Given the description of an element on the screen output the (x, y) to click on. 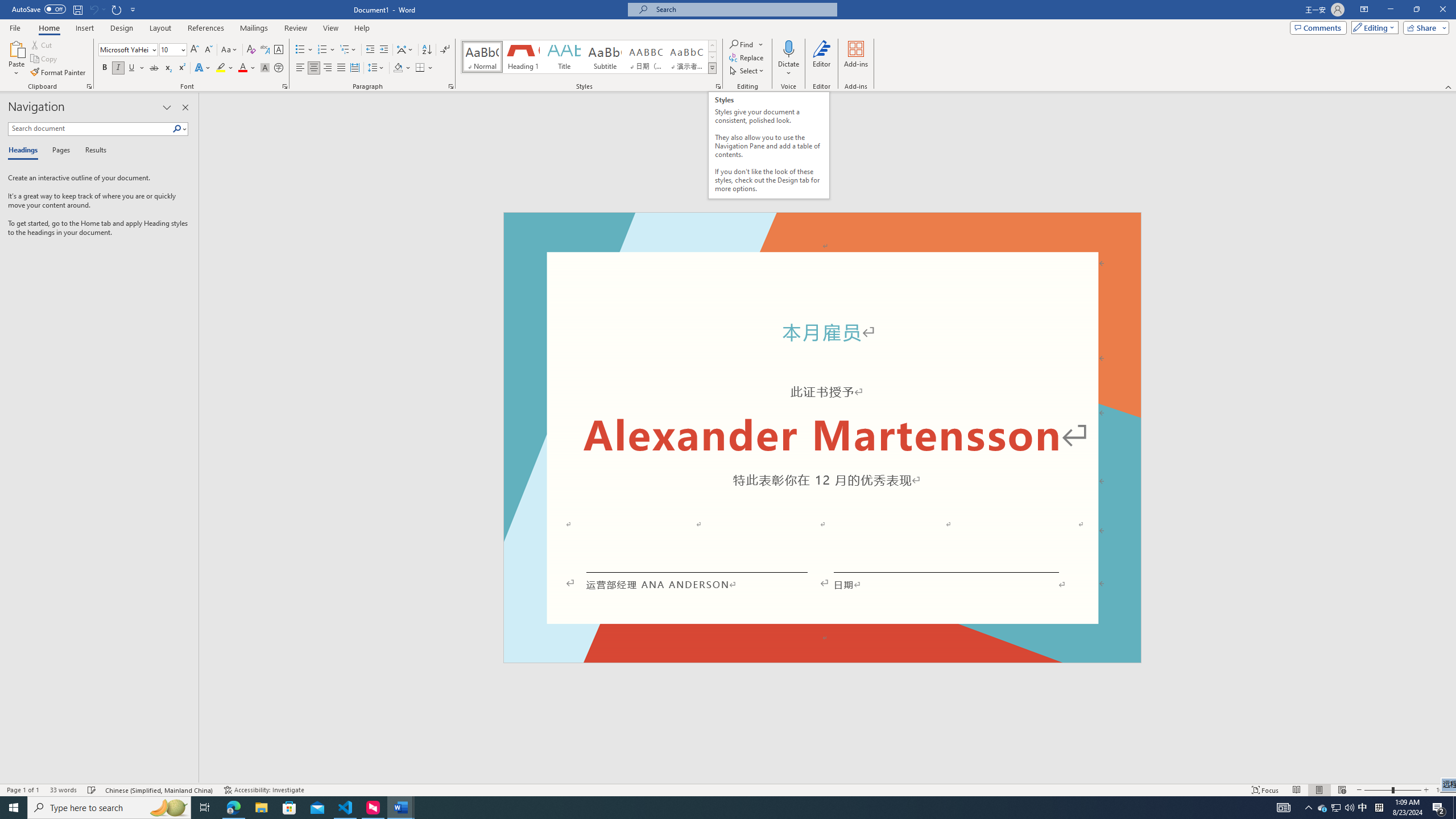
Text Highlight Color (224, 67)
Center (313, 67)
Increase Indent (383, 49)
Zoom (1392, 790)
Microsoft search (742, 9)
Zoom 100% (1443, 790)
